Given the description of an element on the screen output the (x, y) to click on. 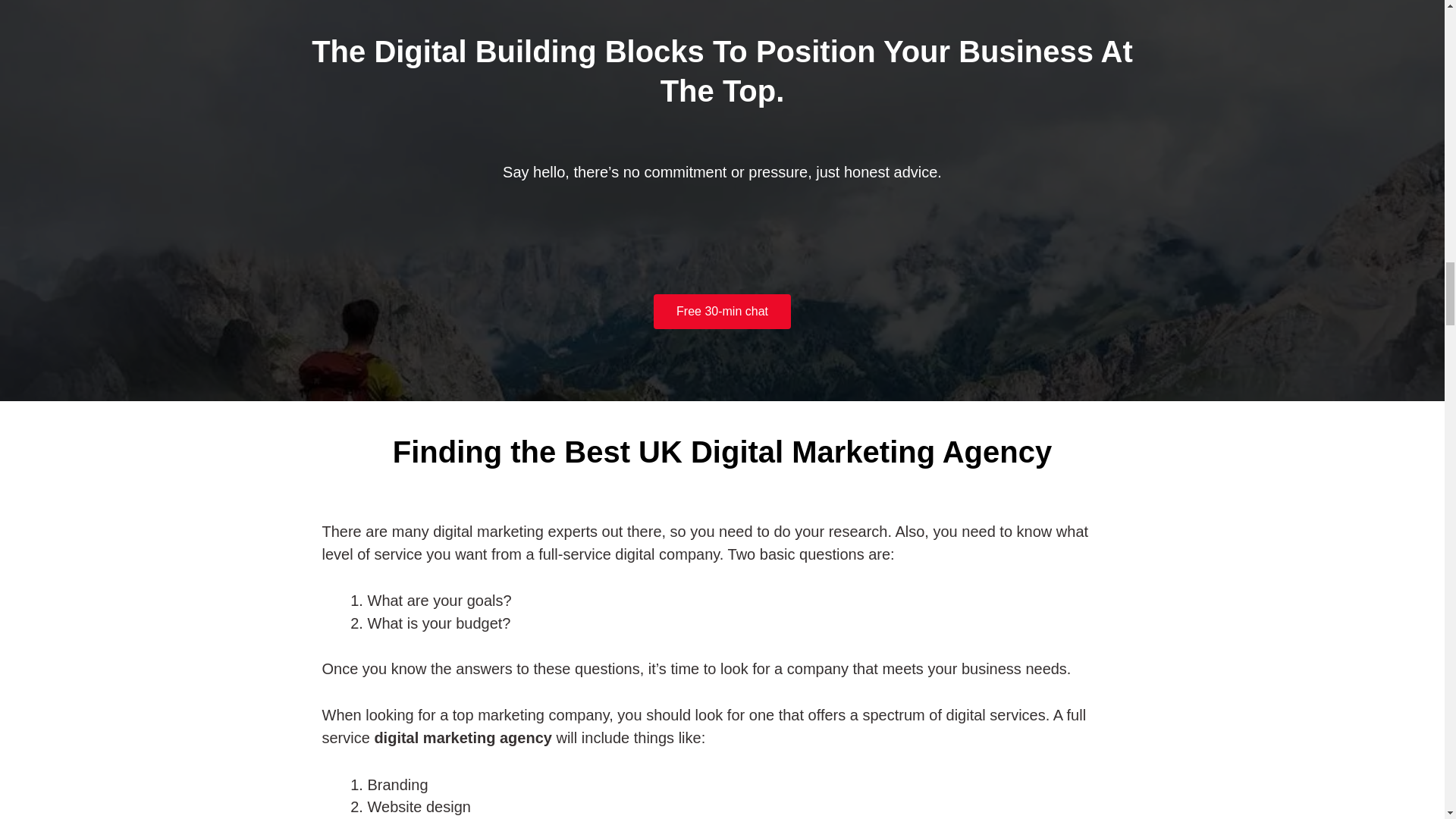
Free 30-min chat (721, 311)
